Given the description of an element on the screen output the (x, y) to click on. 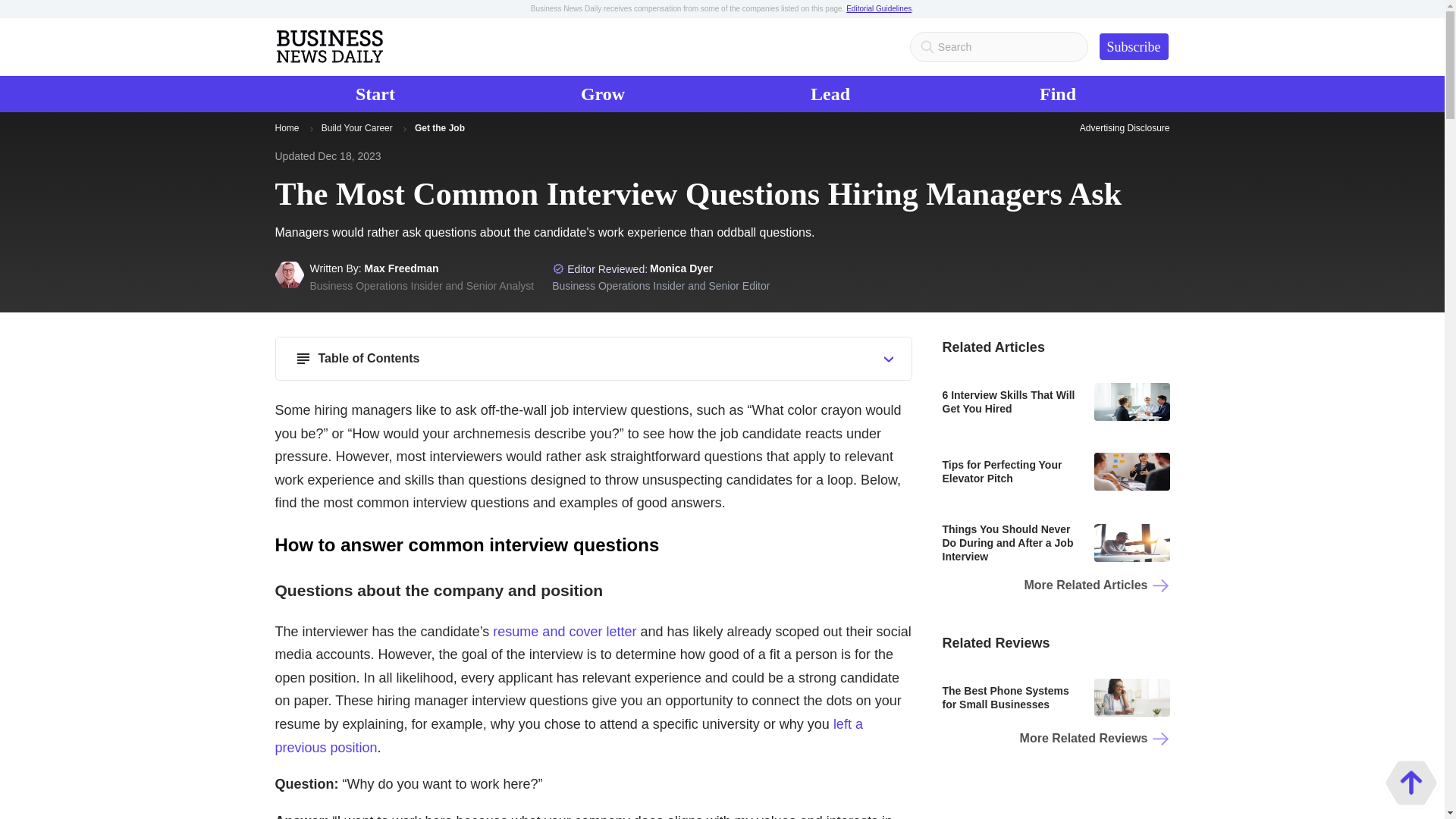
Open row (888, 359)
Editorial Guidelines (878, 8)
Verified Check With Border (557, 268)
Subscribe (835, 94)
Arrow (380, 94)
Arrow (1134, 46)
